Given the description of an element on the screen output the (x, y) to click on. 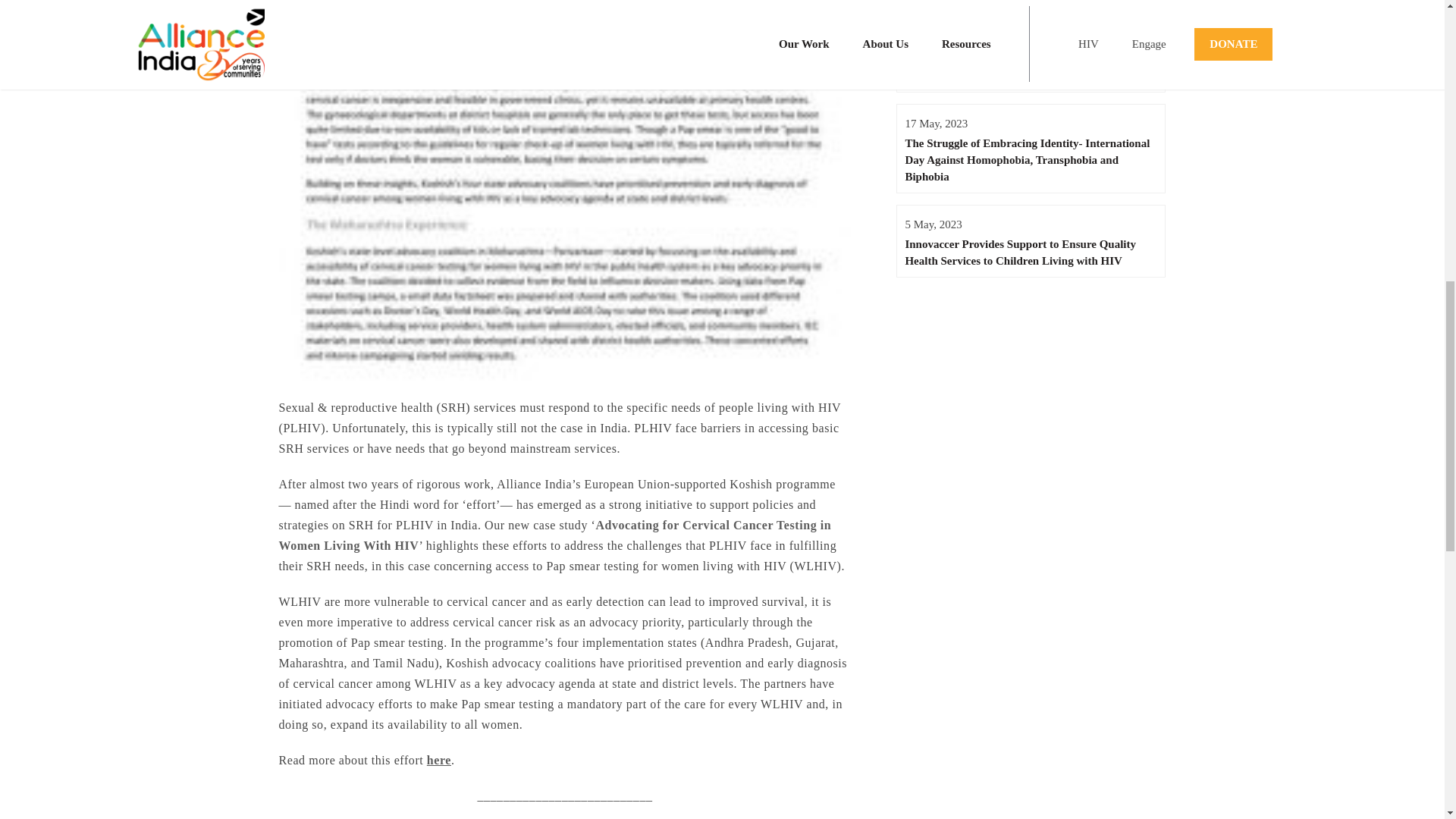
here (438, 759)
